Given the description of an element on the screen output the (x, y) to click on. 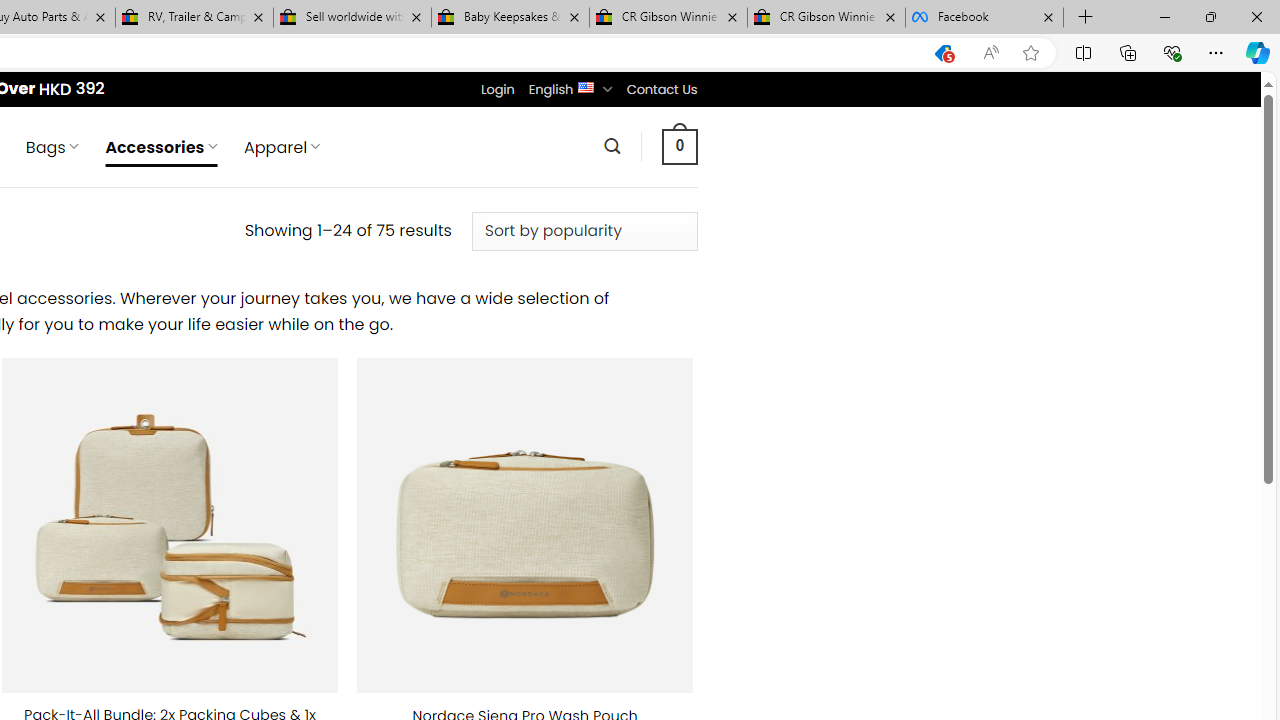
Sell worldwide with eBay (352, 17)
Login (497, 89)
